Given the description of an element on the screen output the (x, y) to click on. 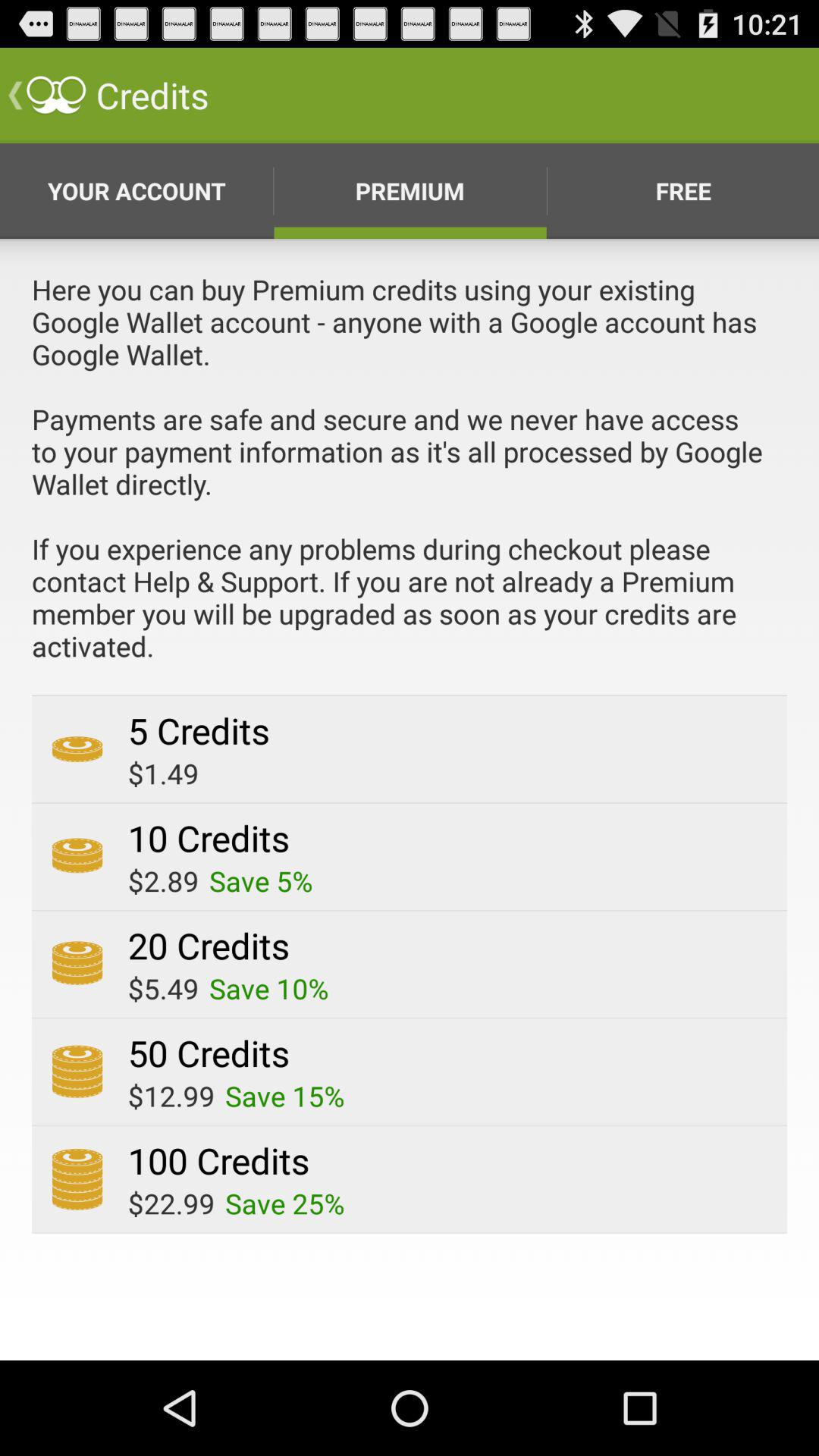
choose the 100 credits icon (218, 1160)
